Given the description of an element on the screen output the (x, y) to click on. 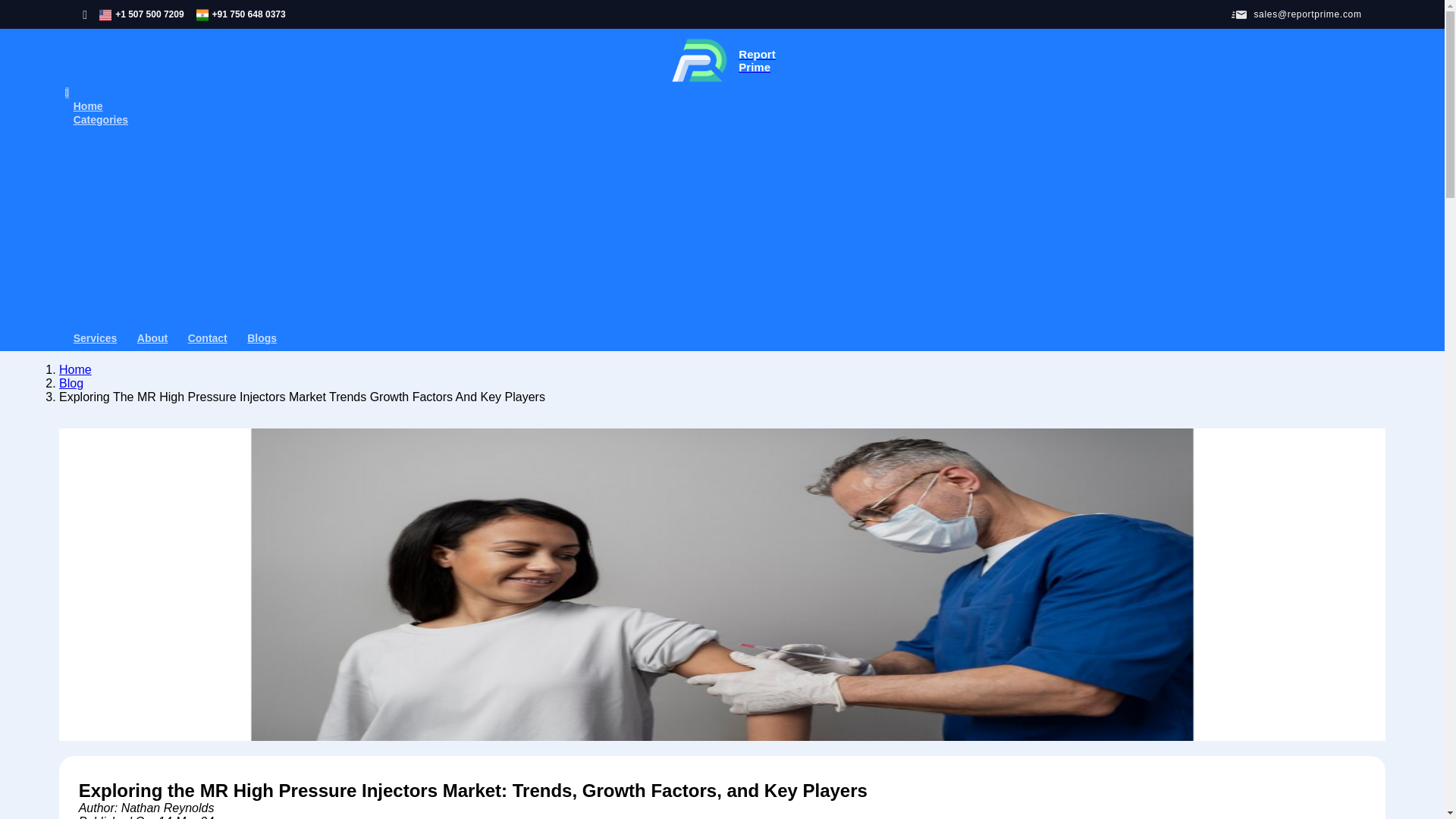
Blog (70, 382)
Home (75, 369)
home (75, 369)
Home (88, 105)
Contact (207, 337)
Services (95, 337)
Blogs (261, 337)
About (151, 337)
Categories (722, 66)
Blog (101, 119)
